Given the description of an element on the screen output the (x, y) to click on. 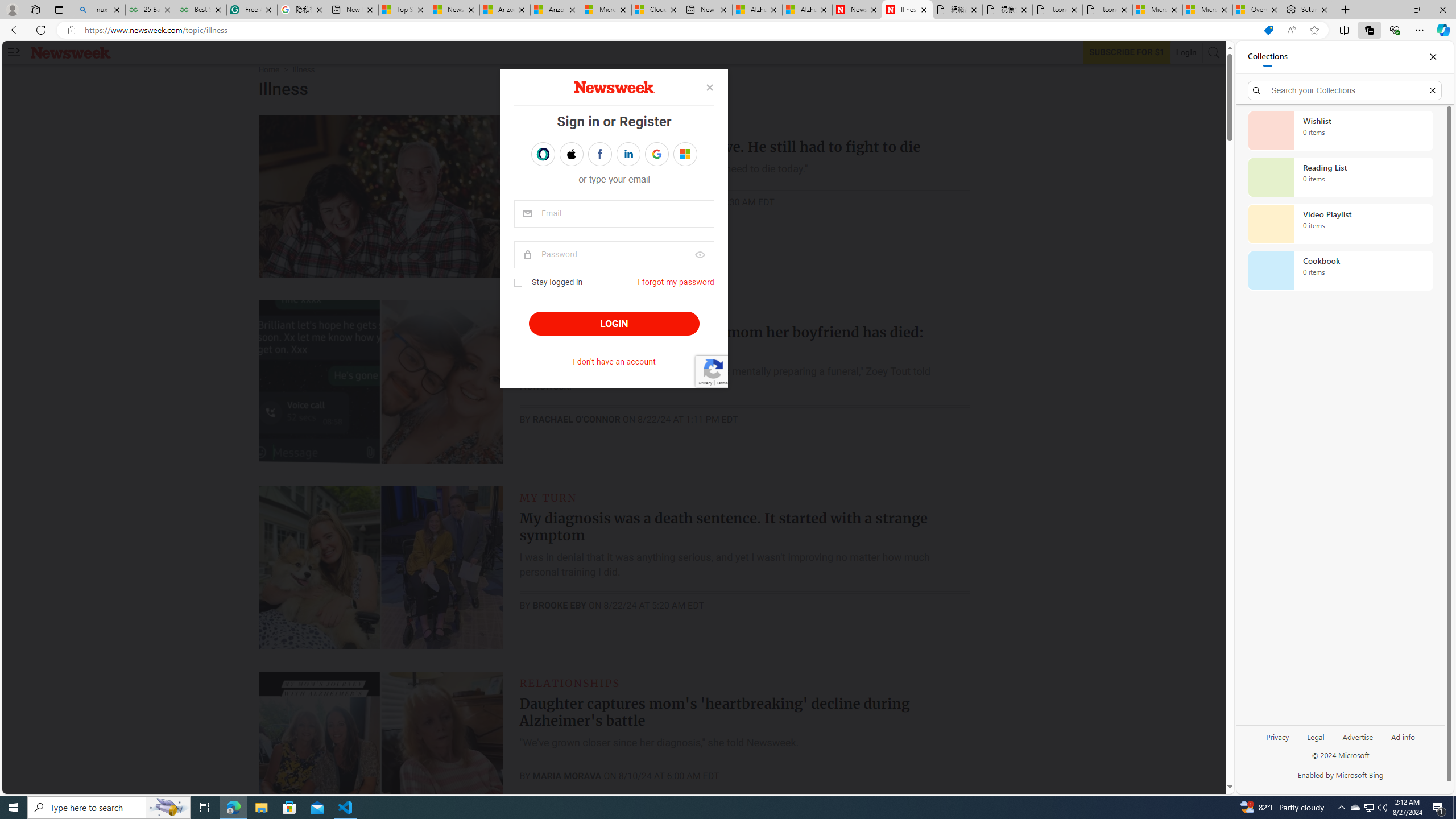
Refresh (40, 29)
Personal Profile (12, 9)
New Tab (1346, 9)
Shopping in Microsoft Edge (1268, 29)
Wishlist collection, 0 items (1339, 130)
Legal (1315, 741)
linux basic - Search (99, 9)
Privacy (1277, 741)
Sign in with FACEBOOK (599, 154)
Top Stories - MSN (403, 9)
Sign in with OPENPASS (541, 154)
Close (1432, 56)
